Given the description of an element on the screen output the (x, y) to click on. 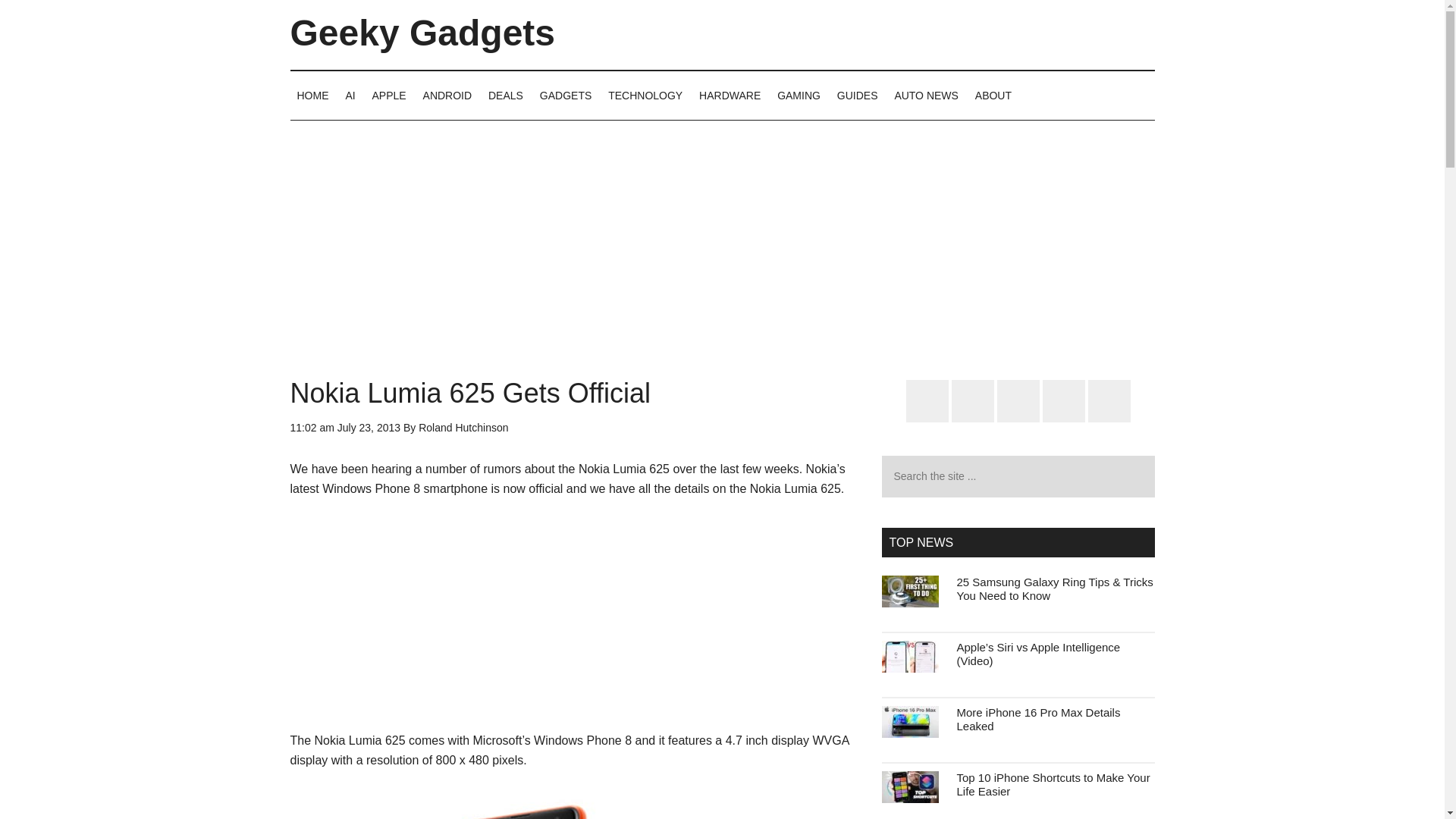
AUTO NEWS (925, 95)
DEALS (505, 95)
GADGETS (565, 95)
More iPhone 16 Pro Max Details Leaked (1038, 718)
Top 10 iPhone Shortcuts to Make Your Life Easier (1053, 784)
About Geeky Gadgets (992, 95)
TECHNOLOGY (644, 95)
Roland Hutchinson (463, 427)
